Given the description of an element on the screen output the (x, y) to click on. 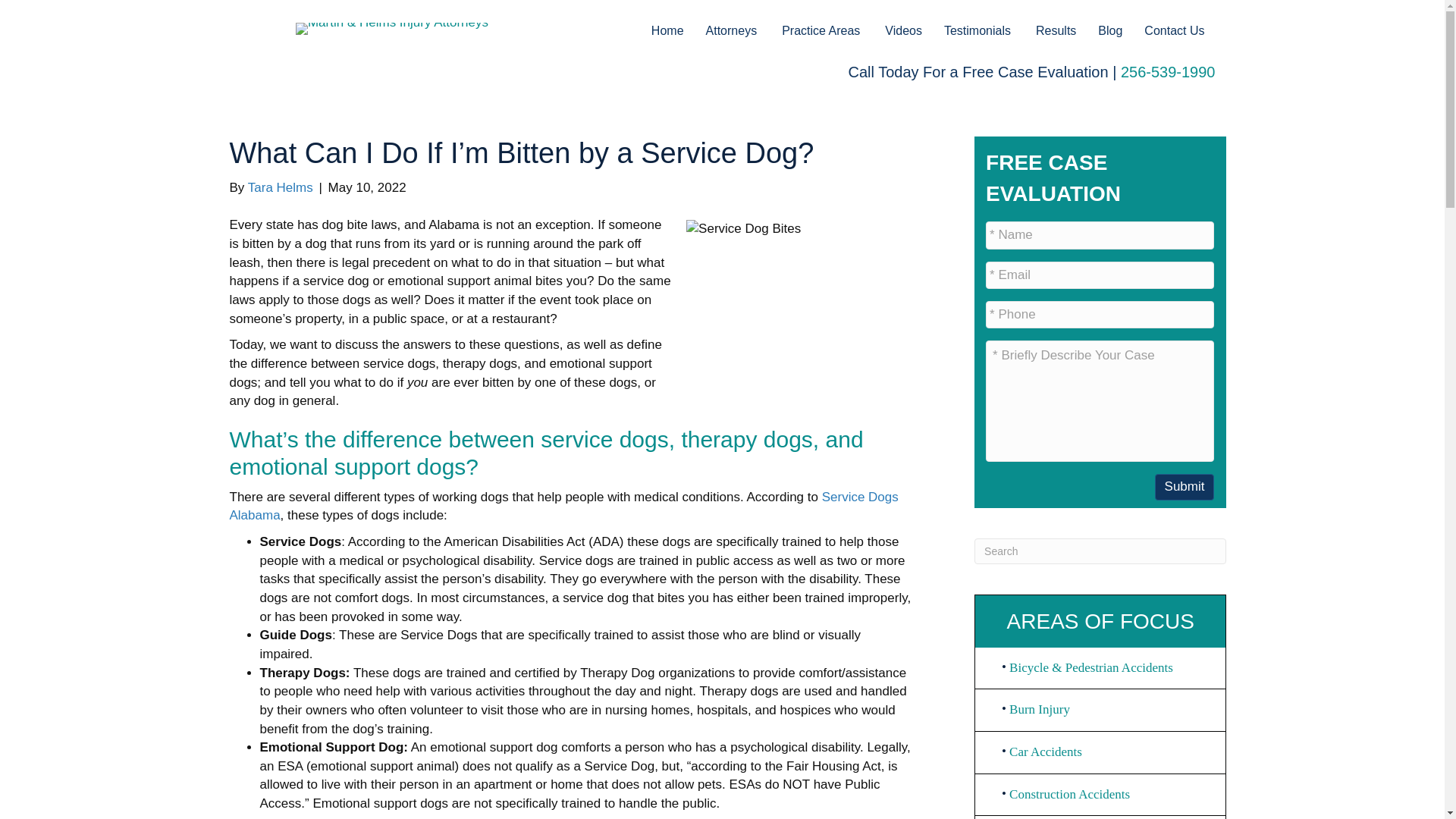
Attorneys (733, 30)
Martin-Helms-sl (391, 28)
Submit (1184, 486)
Videos (904, 30)
256-539-1990 (1168, 71)
Home (667, 30)
Type and press Enter to search. (1099, 551)
Blog (1109, 30)
Contact Us (1174, 30)
Practice Areas (822, 30)
Results (1055, 30)
Testimonials (979, 30)
Tara Helms (280, 187)
